Given the description of an element on the screen output the (x, y) to click on. 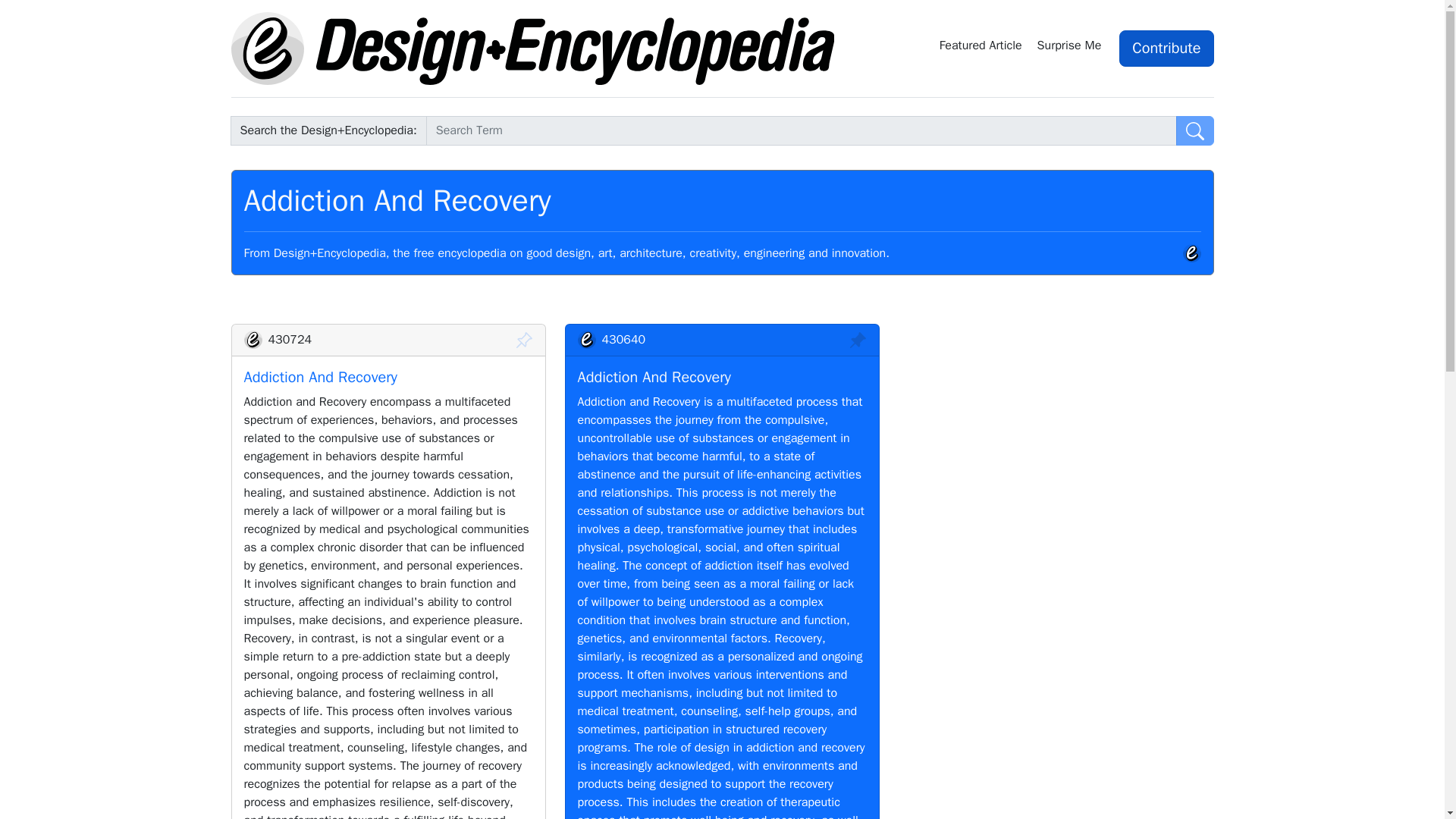
Addiction And Recovery (320, 376)
Addiction And Recovery (655, 376)
Design Encyclopedia (532, 48)
Featured Article (982, 48)
Surprise Me (1072, 48)
Contribute (1165, 48)
